Given the description of an element on the screen output the (x, y) to click on. 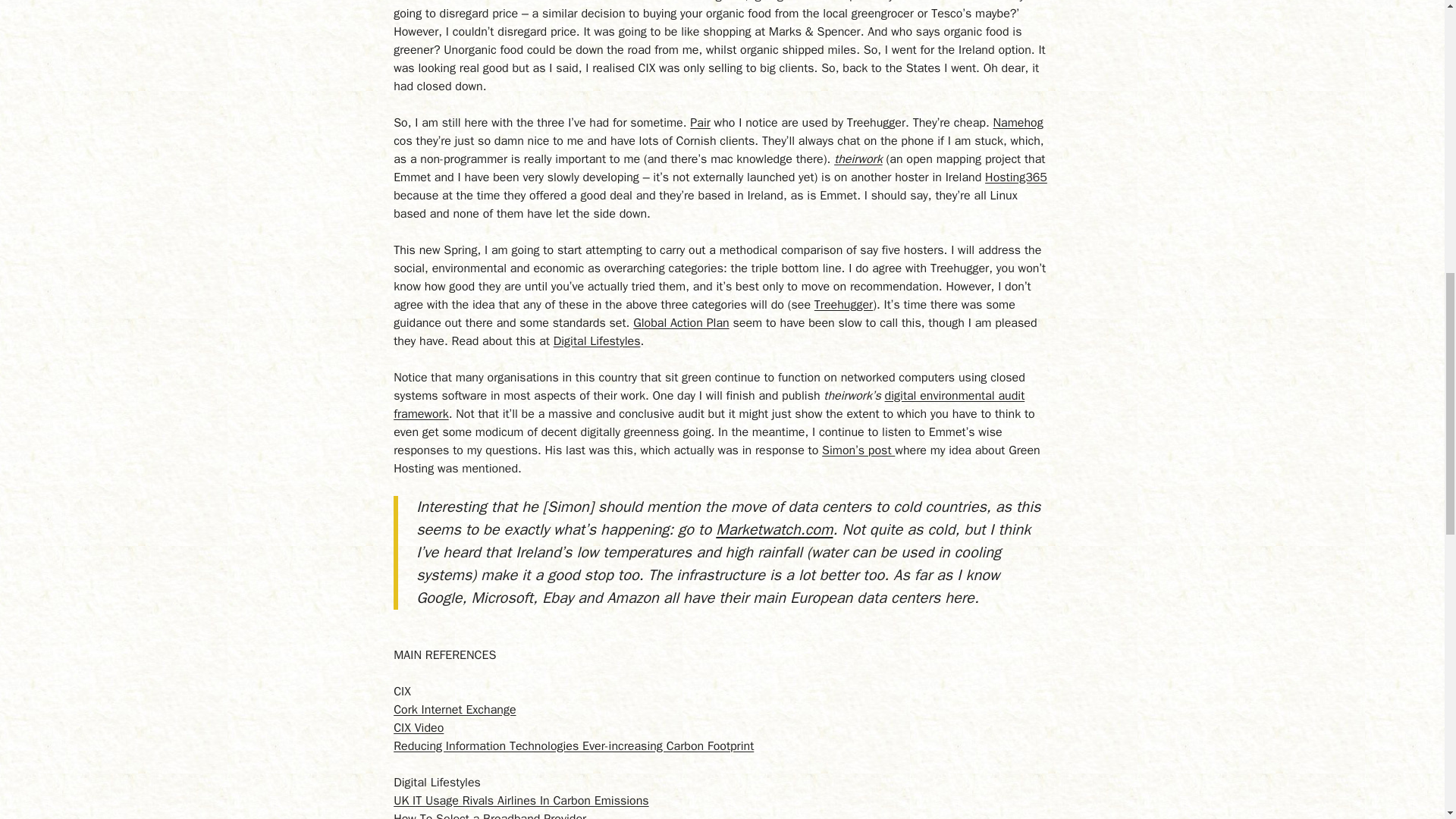
Global Action Plan (681, 322)
Web Hosting - Ireland (1015, 177)
Namehog (1017, 122)
theirwork (858, 159)
Web Hosting - Greenish (700, 122)
Hosting365 (1015, 177)
theirwork (858, 159)
UK IT Usage Rivals Airlines In Carbon Emissions (521, 800)
Treehugger (842, 304)
Web Hosting - Localish (1017, 122)
digital environmental audit framework (709, 404)
Treehugger (842, 304)
How To Select a Broadband Provider (489, 815)
CIX Video (418, 727)
